Given the description of an element on the screen output the (x, y) to click on. 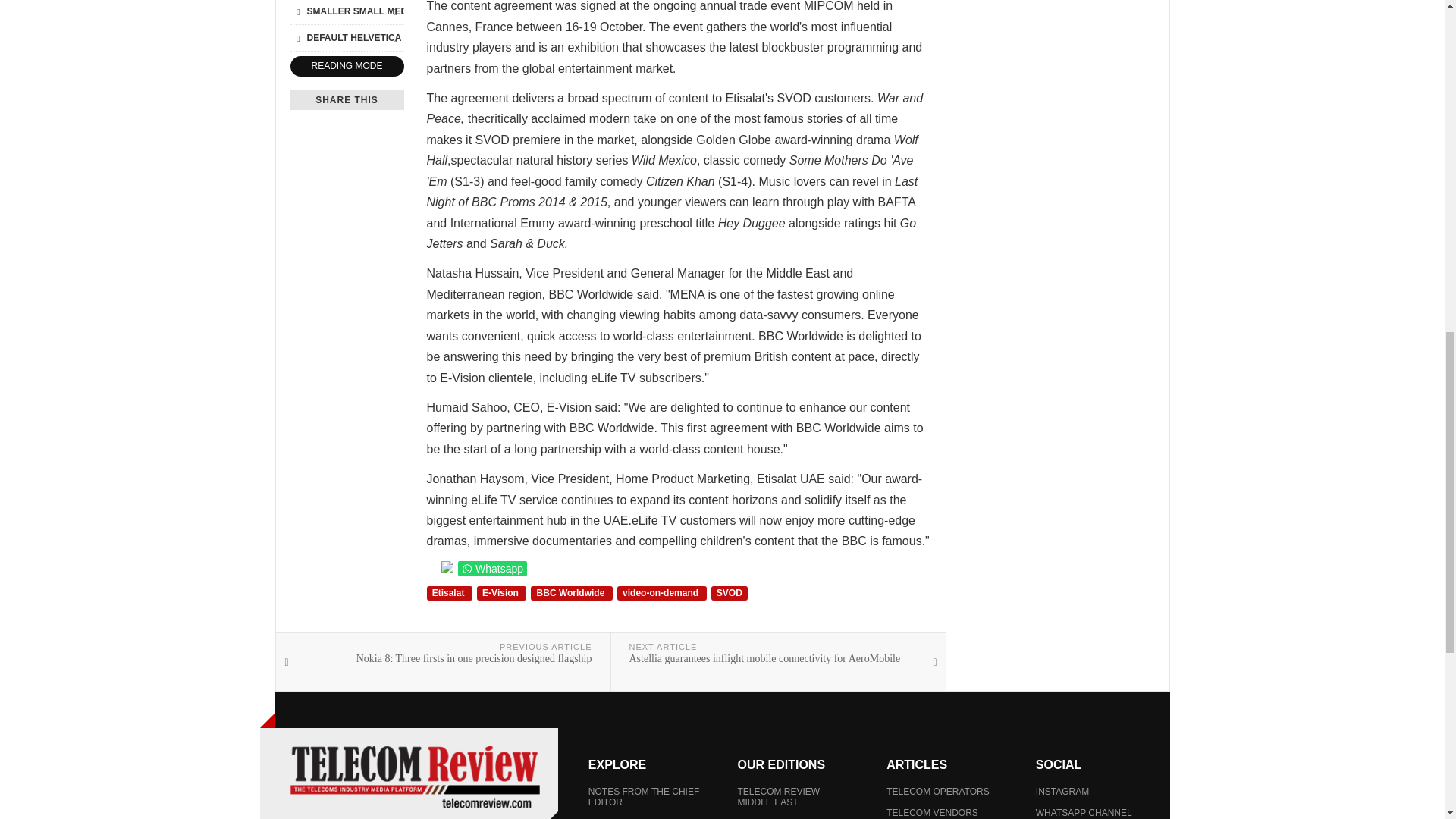
Telecom Review (413, 777)
Smaller Font (297, 11)
Next Font Style (395, 37)
Reading Mode (346, 66)
Previous Font Style (297, 37)
Bigger Font (395, 11)
